Given the description of an element on the screen output the (x, y) to click on. 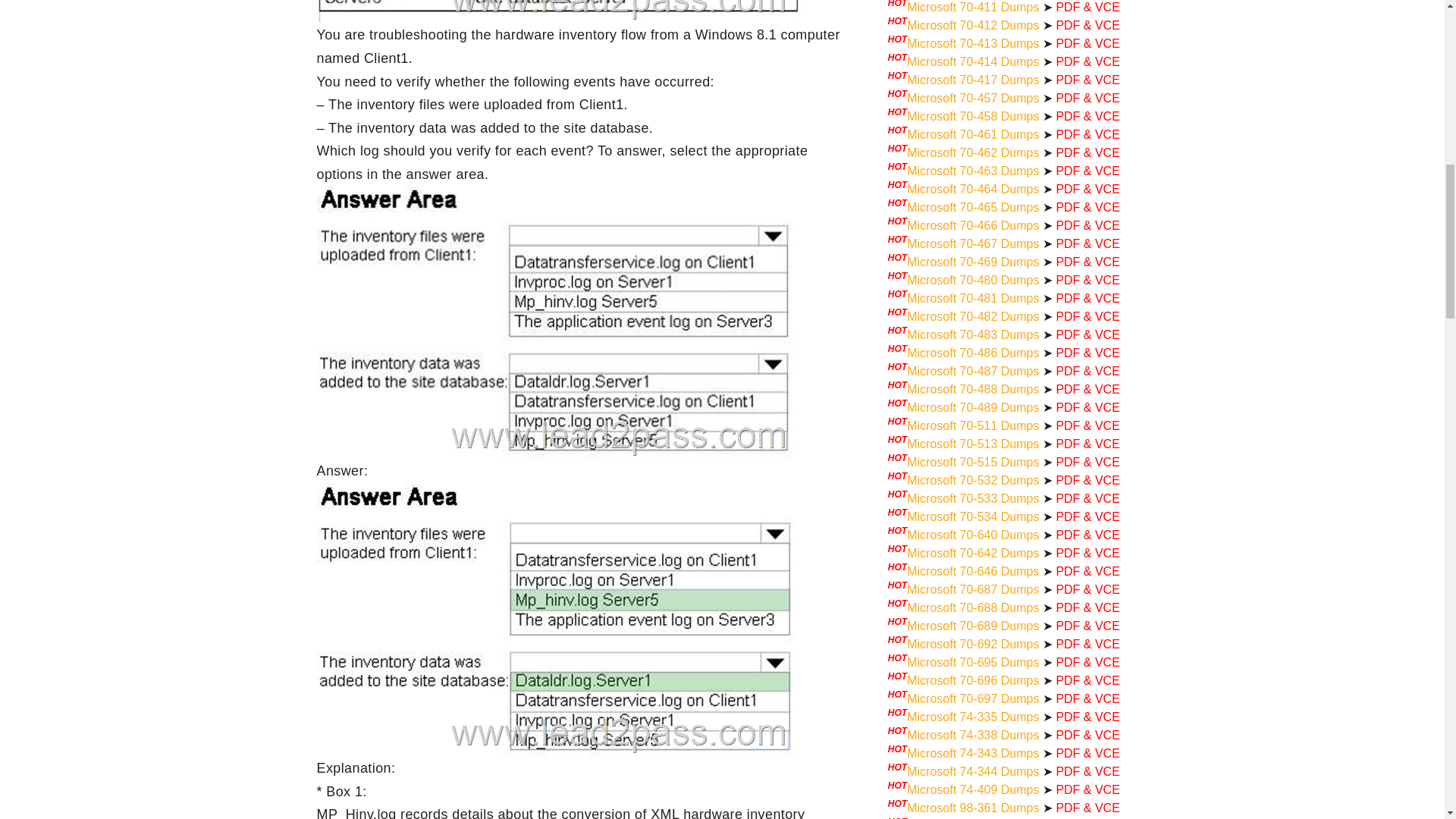
1551 (559, 11)
1553 (559, 619)
1552 (559, 322)
